Given the description of an element on the screen output the (x, y) to click on. 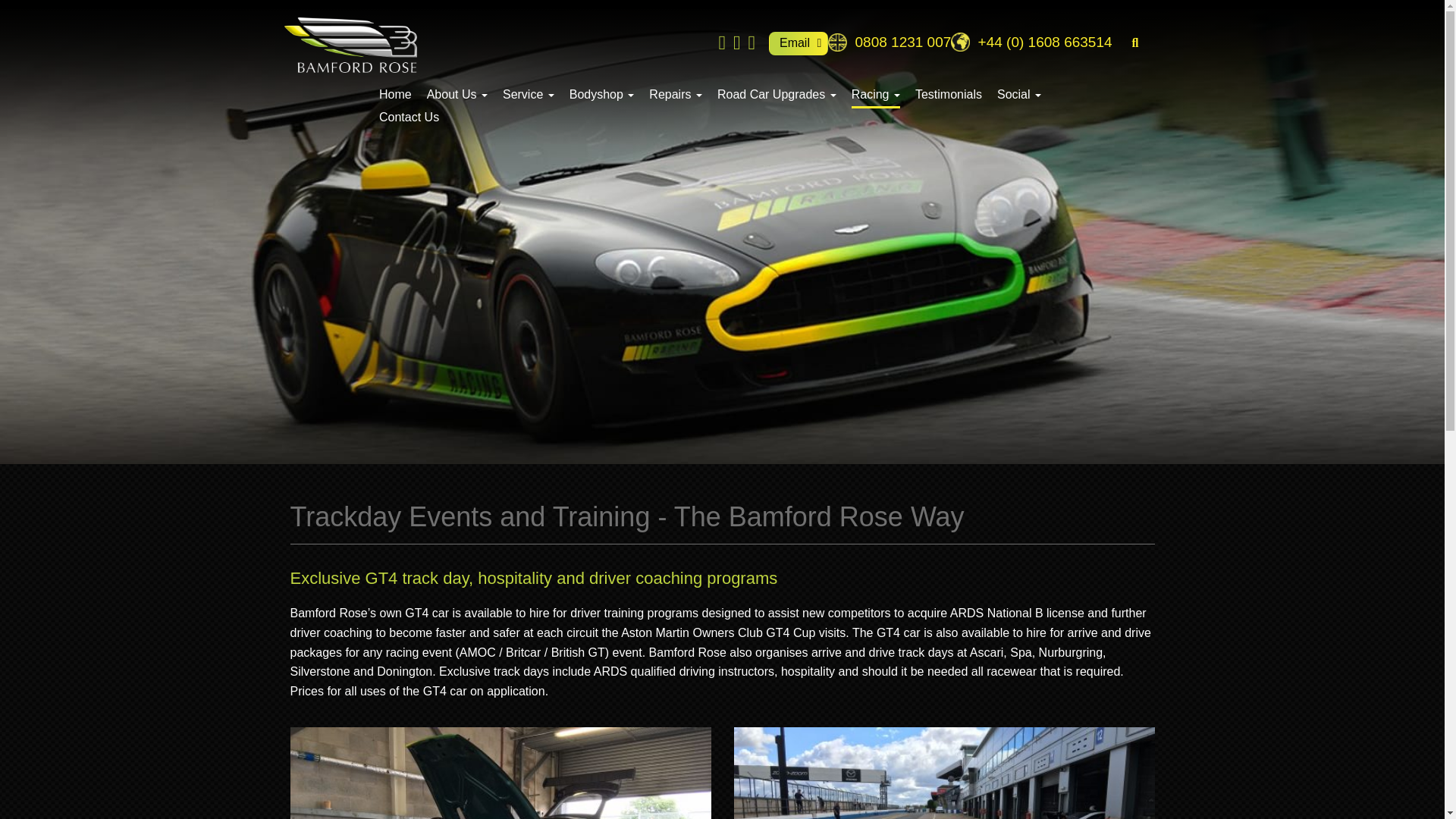
0808 1231 007 (889, 42)
About Us (456, 94)
Road Car Upgrades (776, 94)
Bamford Rose (350, 42)
Home (395, 94)
Bodyshop (601, 94)
Service (528, 94)
Email (798, 43)
About Us (456, 94)
Home (395, 94)
Service (528, 94)
Repairs (675, 94)
